Given the description of an element on the screen output the (x, y) to click on. 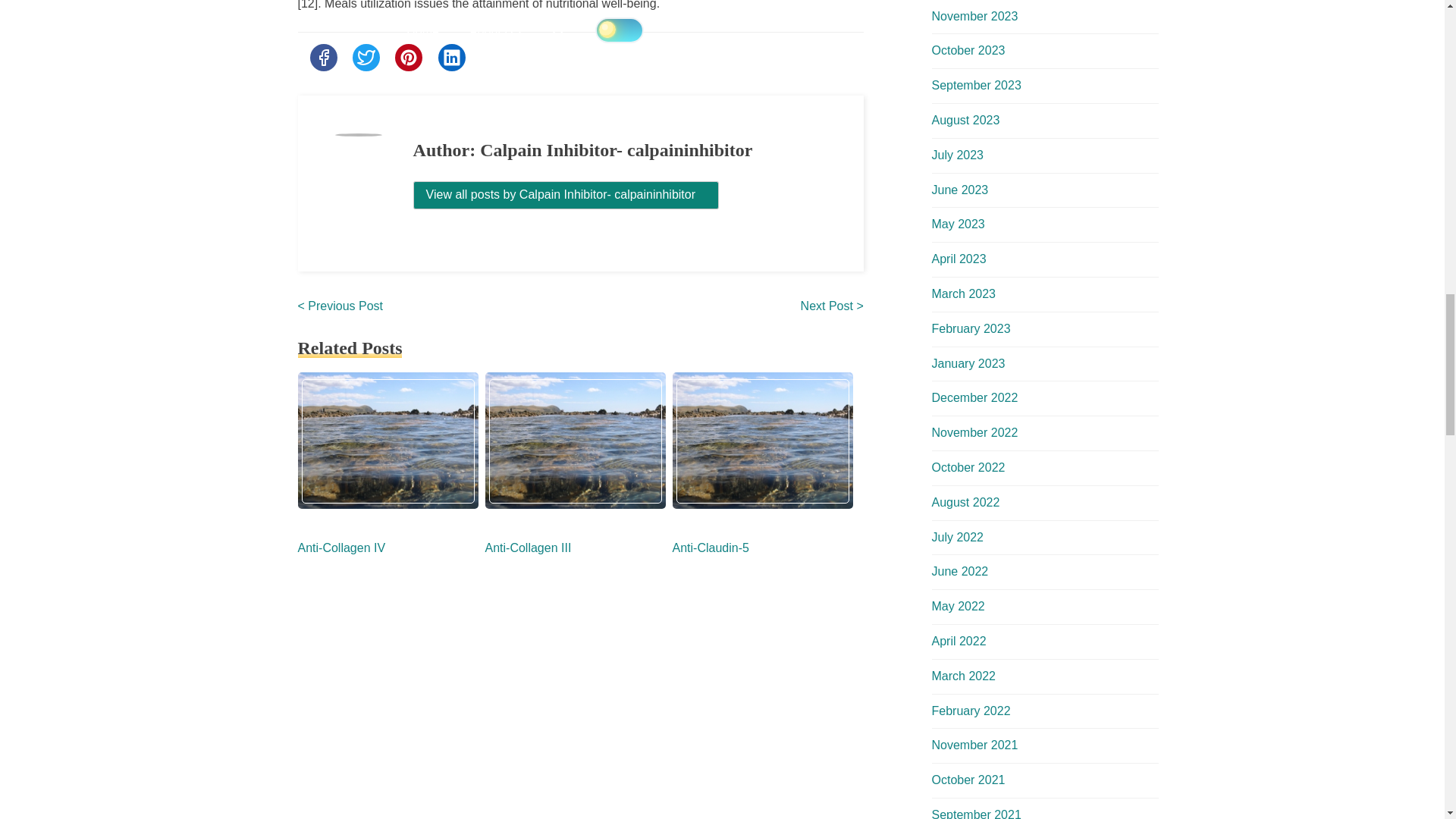
Share this post on Linkedin (451, 57)
Anti-Claudin-5 (709, 547)
Share this post on Pinterest (408, 57)
View all posts by Calpain Inhibitor- calpaininhibitor (566, 194)
Anti-Collagen IV (341, 547)
Share this post on Facebook (322, 57)
Anti-Collagen III (528, 547)
Share this post on Twitter (366, 57)
View all posts by Calpain Inhibitor- calpaininhibitor (566, 194)
